Given the description of an element on the screen output the (x, y) to click on. 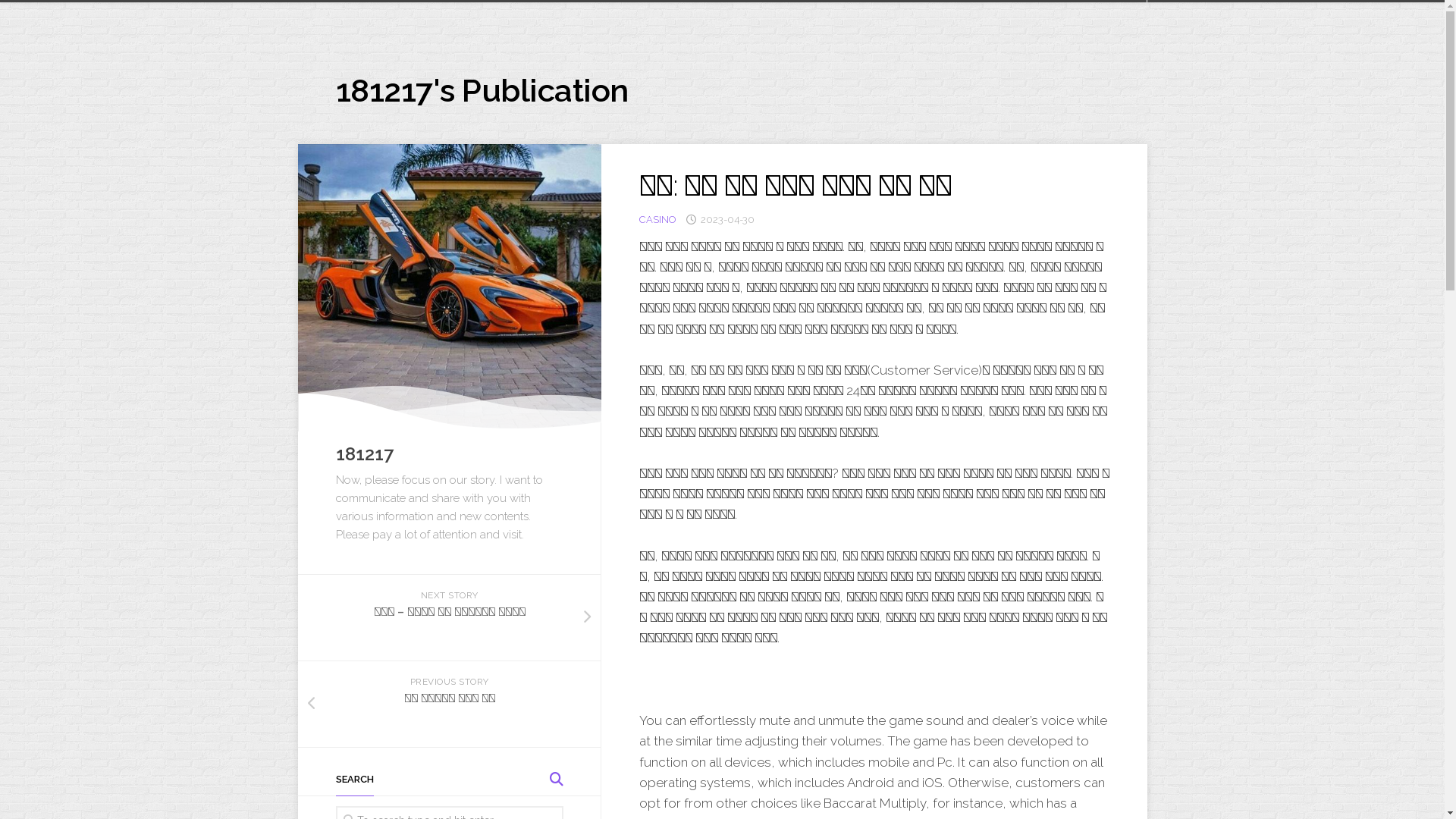
181217's Publication Element type: text (481, 90)
CASINO Element type: text (656, 219)
